Given the description of an element on the screen output the (x, y) to click on. 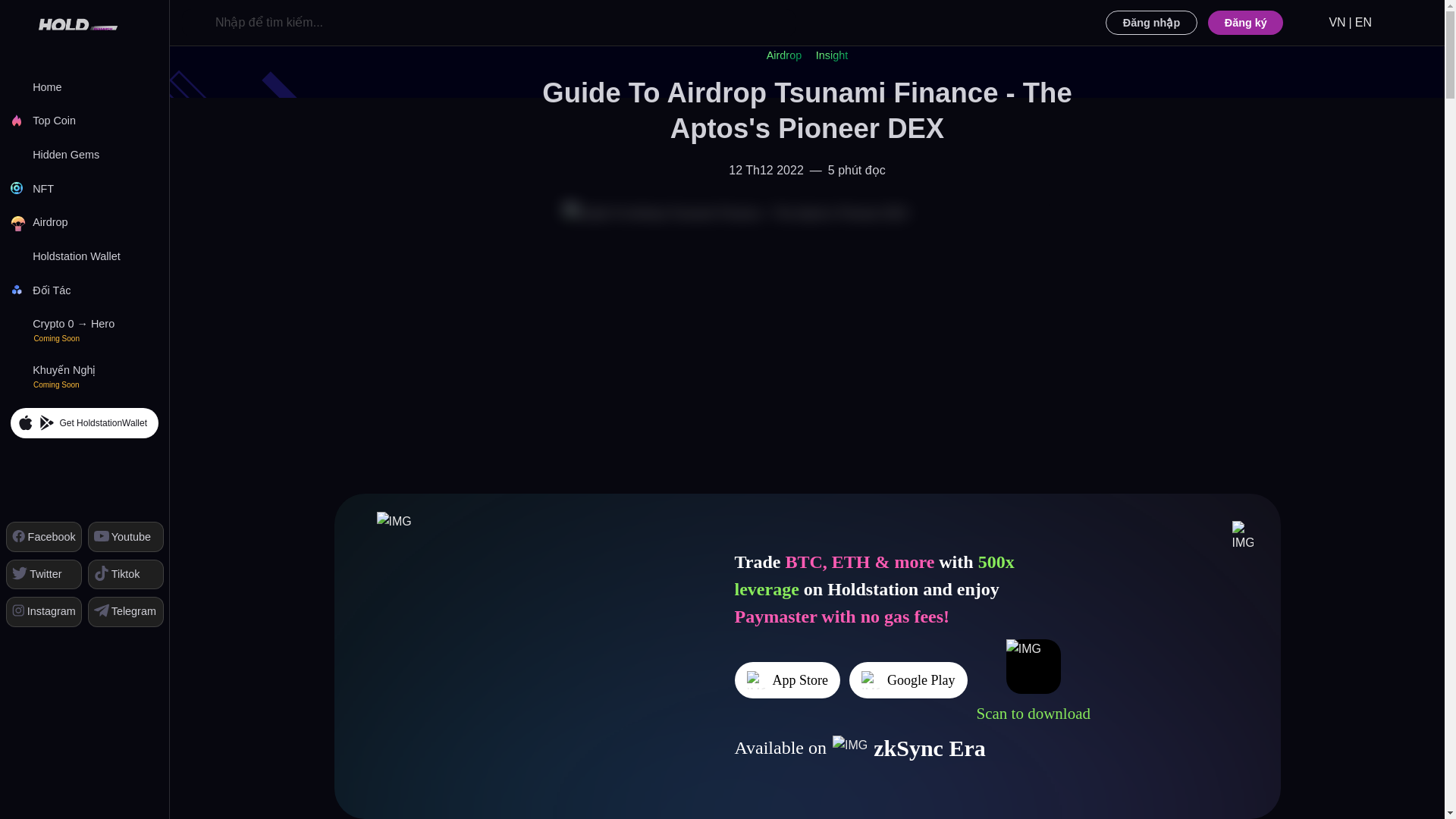
Youtube (125, 536)
Instagram (43, 611)
Telegram (125, 611)
Tiktok (125, 573)
Telegram (125, 611)
Airdrop (783, 55)
Tiktok (125, 573)
Get HoldstationWallet (83, 422)
Airdrop (783, 55)
Menu (157, 22)
Airdrop (84, 223)
Insight (830, 55)
Insight (830, 55)
Facebook (43, 536)
Holdstation Wallet (84, 256)
